Given the description of an element on the screen output the (x, y) to click on. 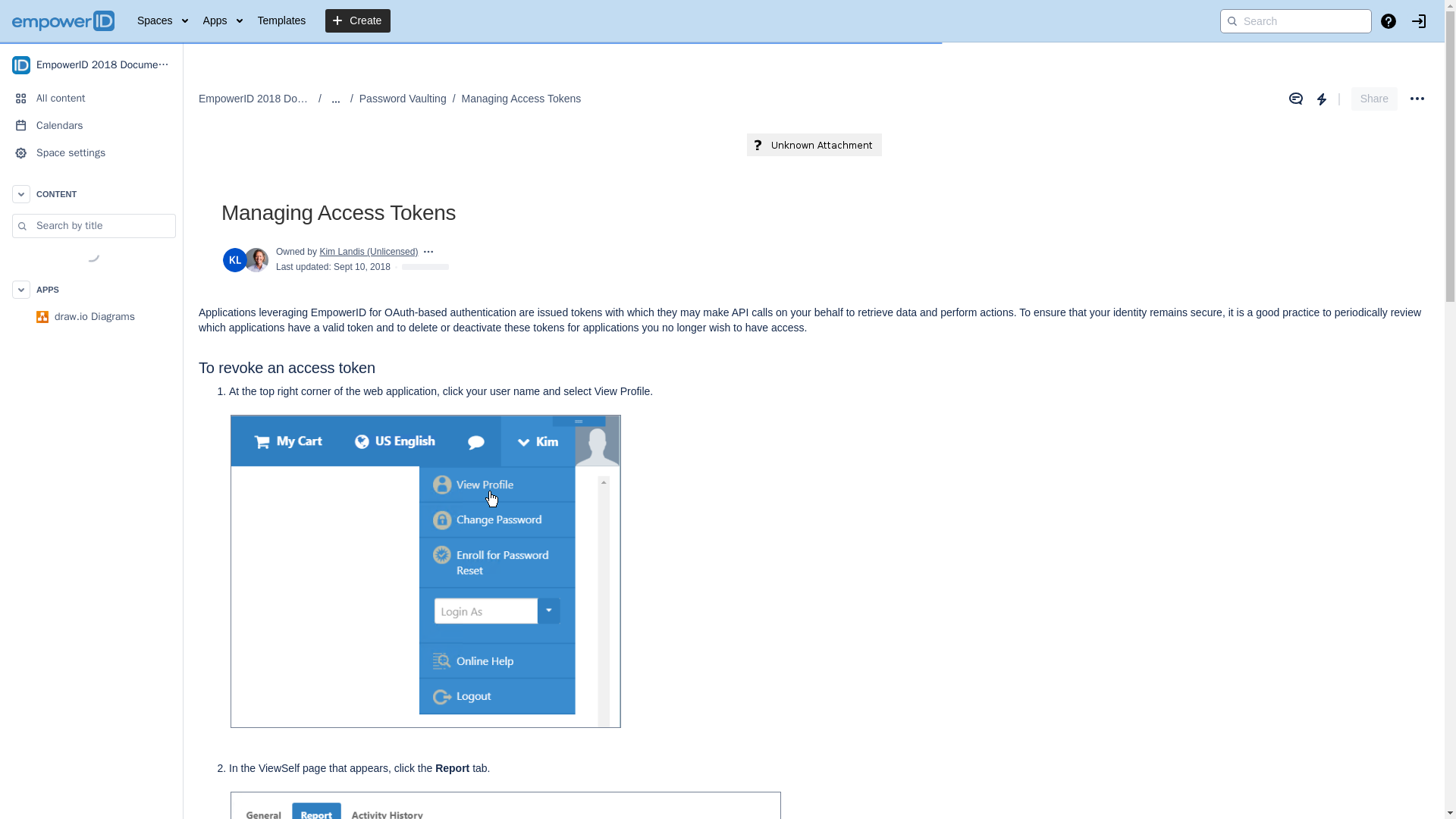
Share (1374, 98)
Managing Access Tokens (520, 98)
Apps (222, 21)
Create (357, 21)
APPS (90, 289)
EmpowerID 2018 Documentation (90, 64)
draw.io Diagrams (90, 316)
Password Vaulting (402, 98)
Emp18Notice.png (812, 144)
CONTENT (90, 194)
Space settings (90, 153)
Templates (282, 21)
Sept 10, 2018 (361, 266)
All content (90, 98)
Calendars (90, 125)
